Given the description of an element on the screen output the (x, y) to click on. 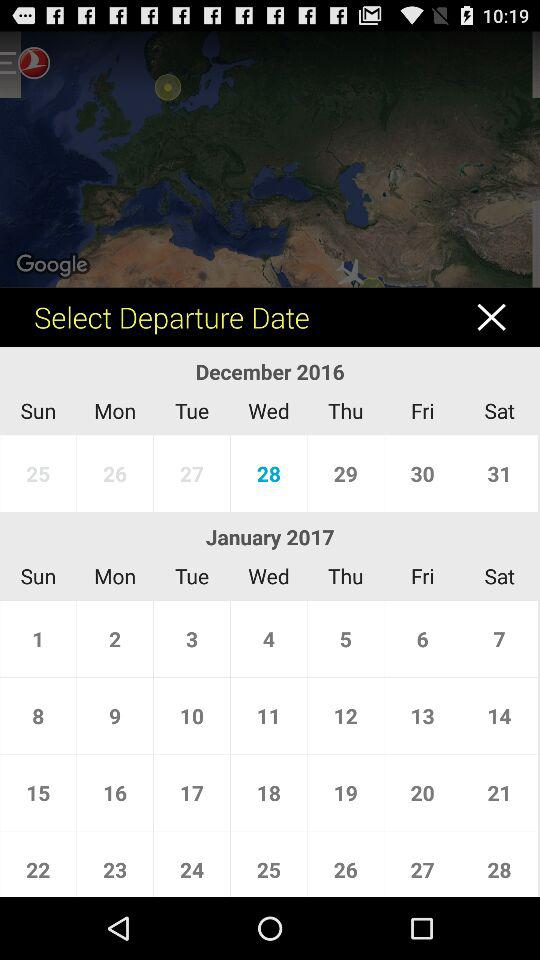
close tag (501, 316)
